Given the description of an element on the screen output the (x, y) to click on. 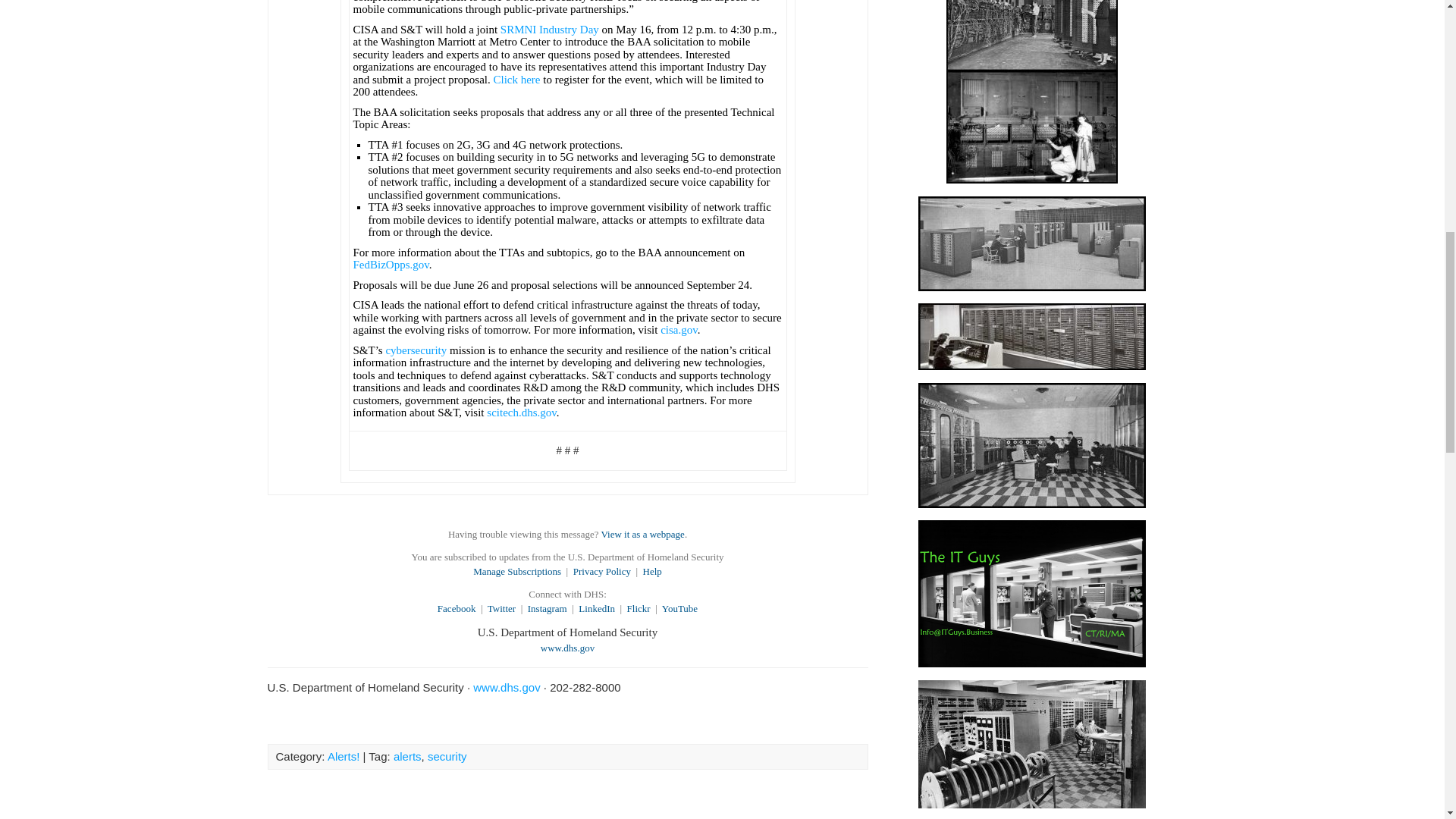
www.dhs.gov (567, 647)
SRMNI Industry Day (549, 29)
Click here (516, 79)
Instagram (547, 608)
Facebook (457, 608)
Manage Subscriptions (516, 571)
LinkedIn (596, 608)
scitech.dhs.gov (521, 412)
Twitter (501, 608)
cybersecurity (415, 349)
security (447, 756)
FedBizOpps.gov (391, 264)
Privacy Policy (601, 571)
Flickr (638, 608)
Alerts! (343, 756)
